Given the description of an element on the screen output the (x, y) to click on. 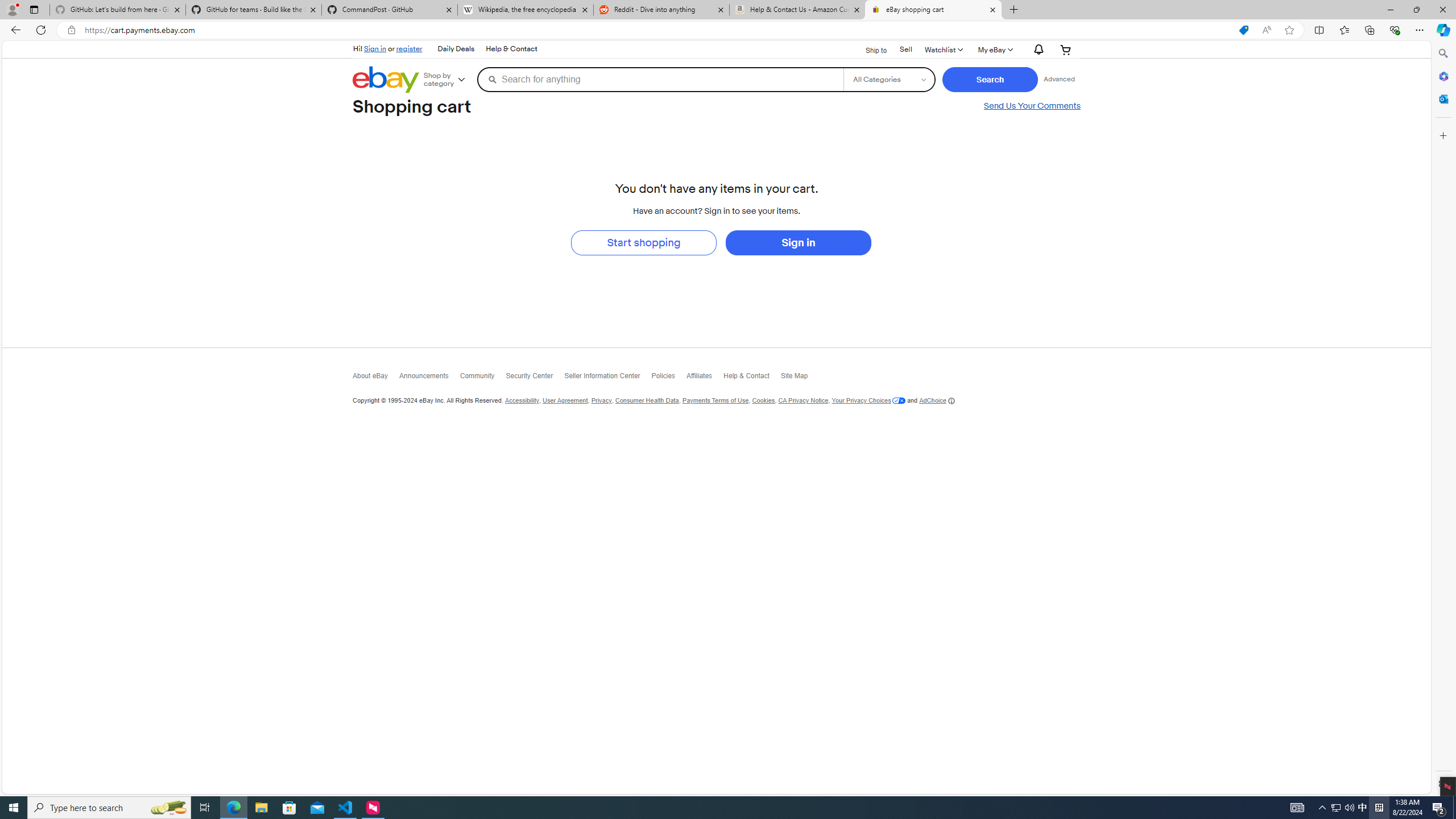
AdChoice (936, 400)
Ship to (868, 48)
Consumer Health Data (646, 400)
Community (483, 378)
Address and search bar (658, 29)
Close Outlook pane (1442, 98)
Send Us Your Comments - opens in new window or tab (1031, 105)
Daily Deals (455, 49)
Sign in (797, 242)
